Given the description of an element on the screen output the (x, y) to click on. 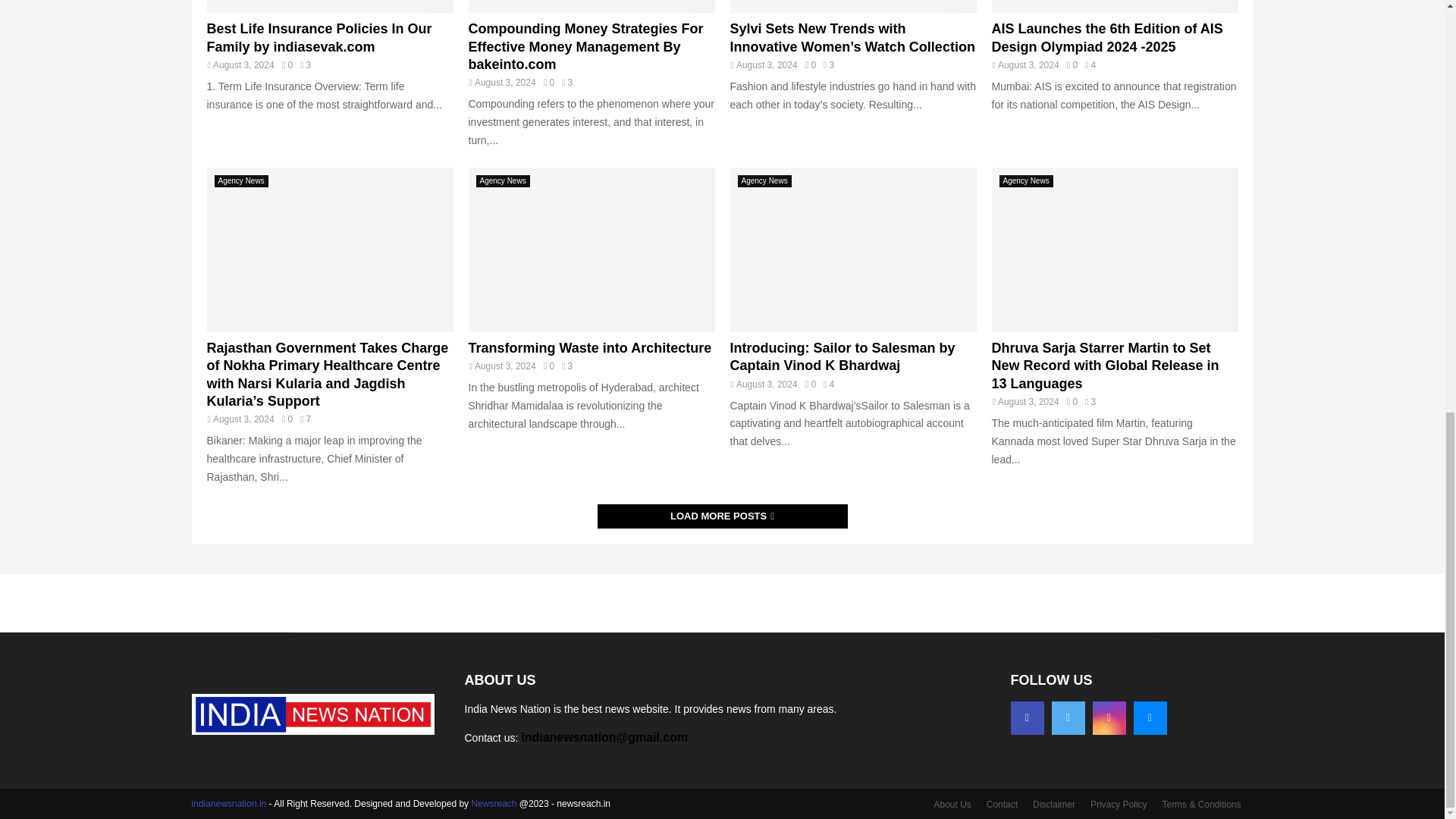
0 (287, 64)
0 (287, 419)
0 (810, 64)
Transforming Waste into Architecture (591, 249)
Agency News (240, 181)
0 (1072, 64)
0 (548, 81)
Best Life Insurance Policies In Our Family by indiasevak.com (329, 6)
